Given the description of an element on the screen output the (x, y) to click on. 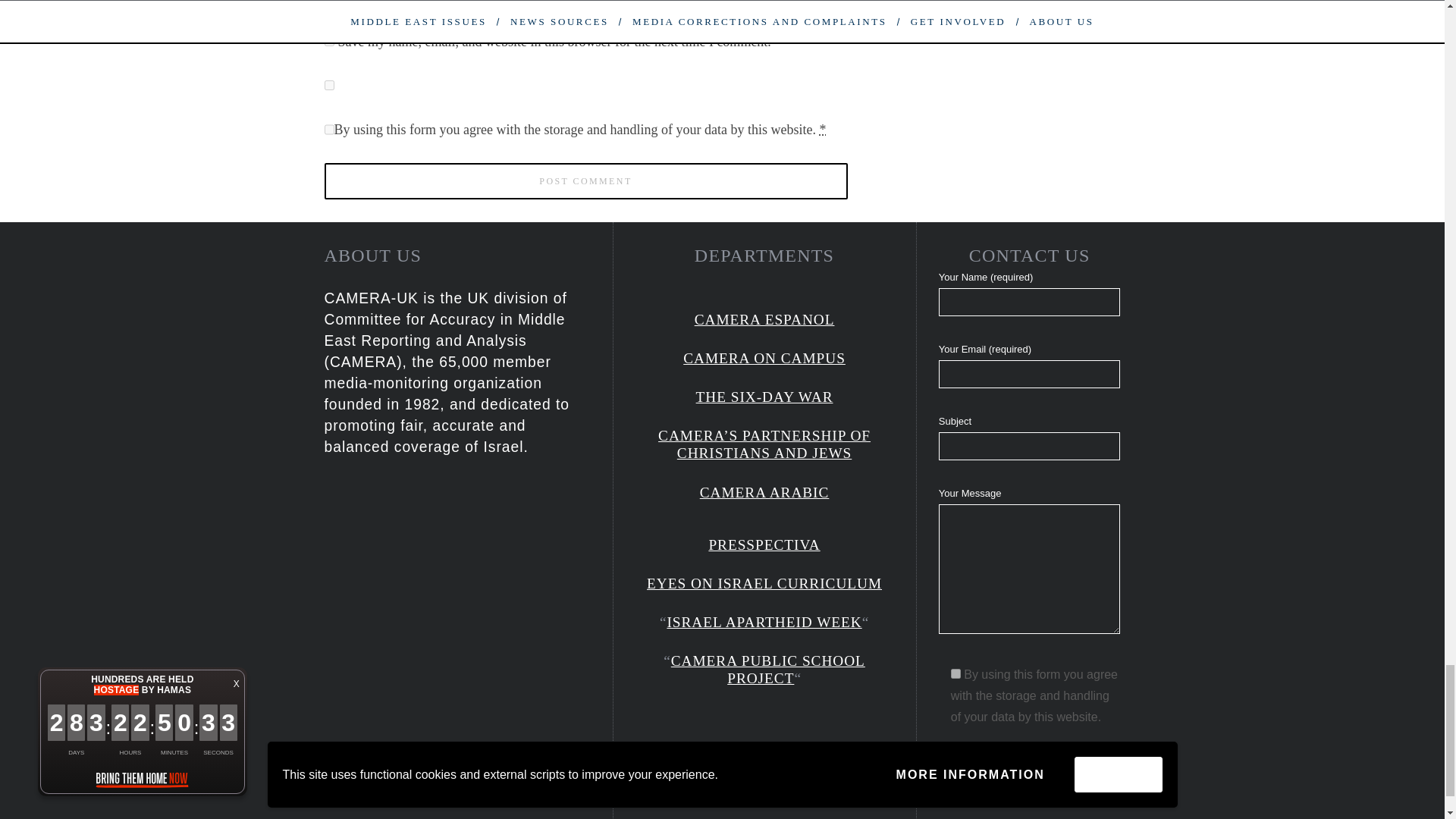
1 (955, 673)
yes (329, 85)
Post Comment (585, 180)
yes (329, 40)
